Given the description of an element on the screen output the (x, y) to click on. 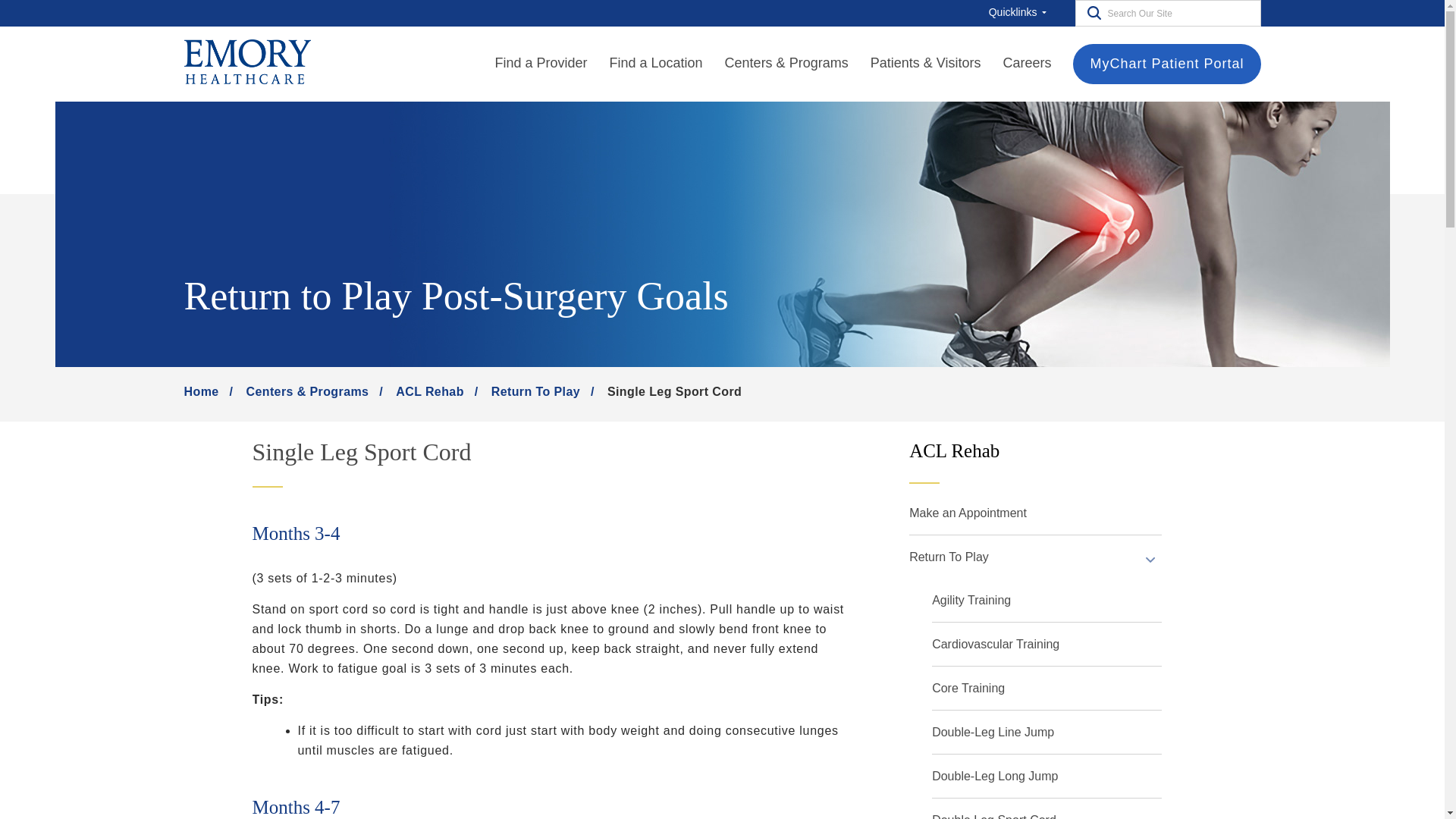
Find a Provider (540, 63)
Careers (1027, 63)
Header Logo (246, 63)
Quicklinks (1020, 12)
Find a Location (656, 63)
Search (1090, 12)
